Given the description of an element on the screen output the (x, y) to click on. 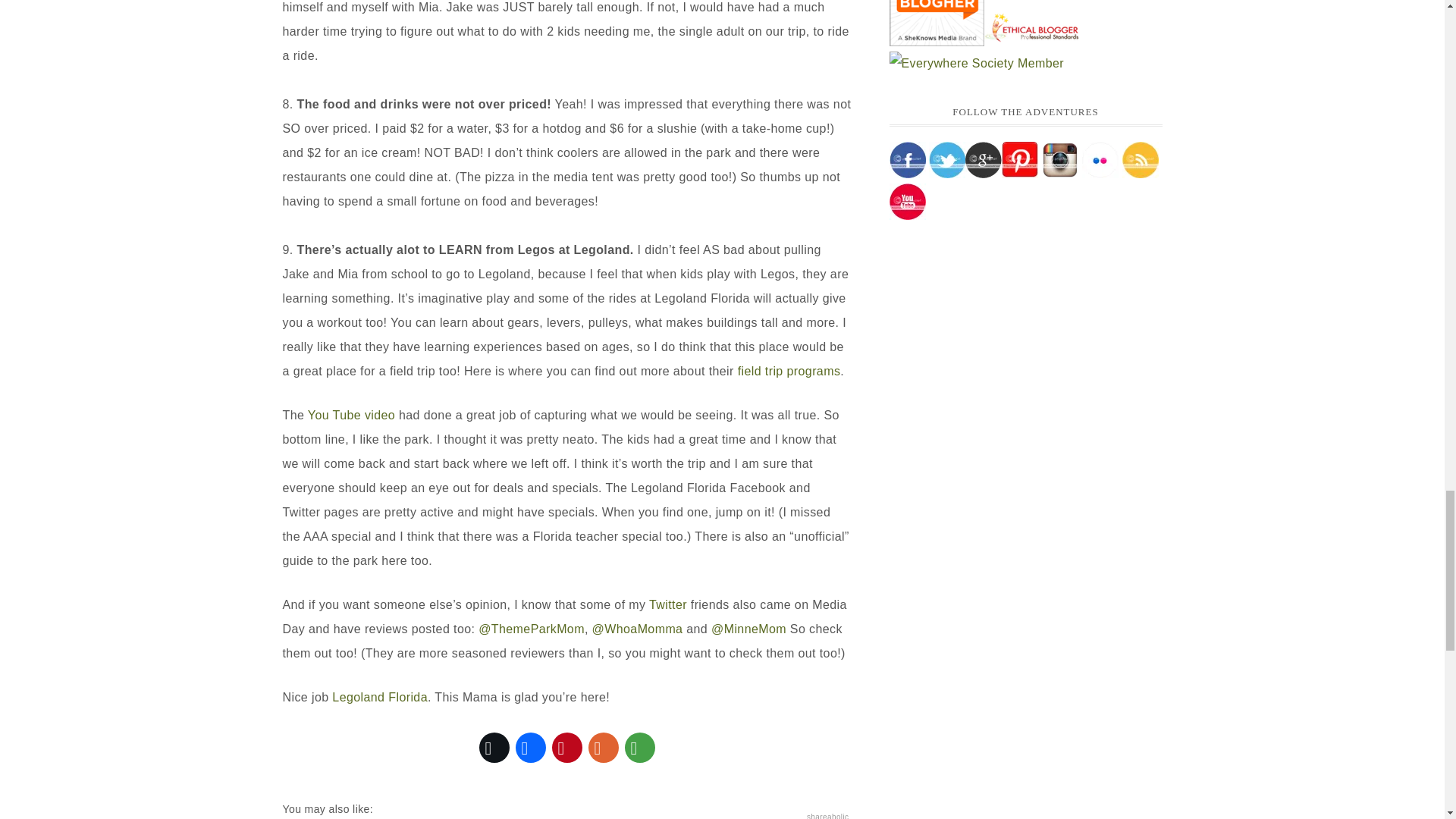
field trip programs (789, 369)
Pinterest (566, 747)
More Options (639, 747)
You Tube video (350, 413)
Yummly (603, 747)
Facebook (530, 747)
Twitter (668, 603)
Legoland Florida (379, 696)
